Given the description of an element on the screen output the (x, y) to click on. 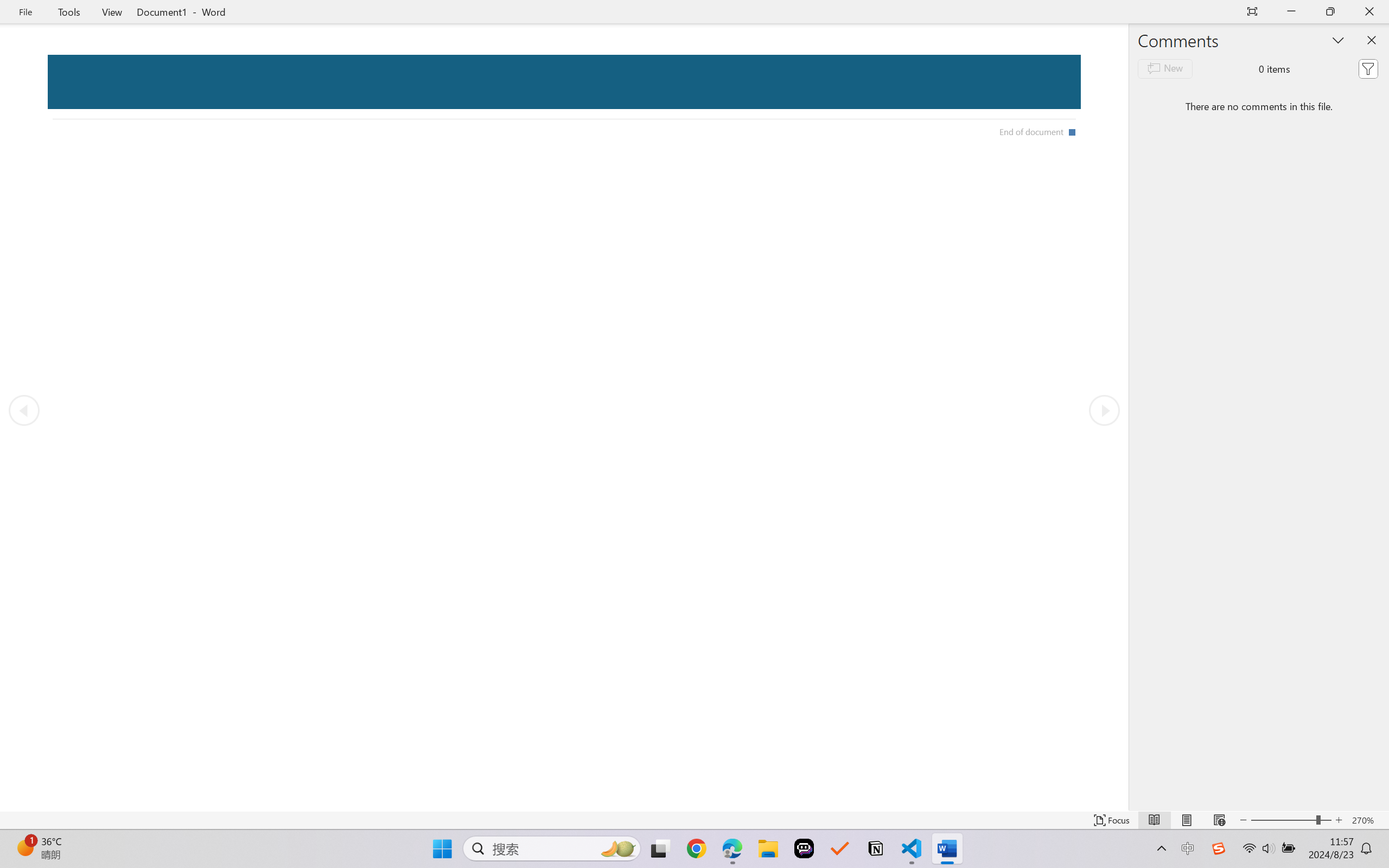
Text Size (1291, 819)
Auto-hide Reading Toolbar (1252, 11)
New comment (1165, 68)
Increase Text Size (1338, 819)
